Given the description of an element on the screen output the (x, y) to click on. 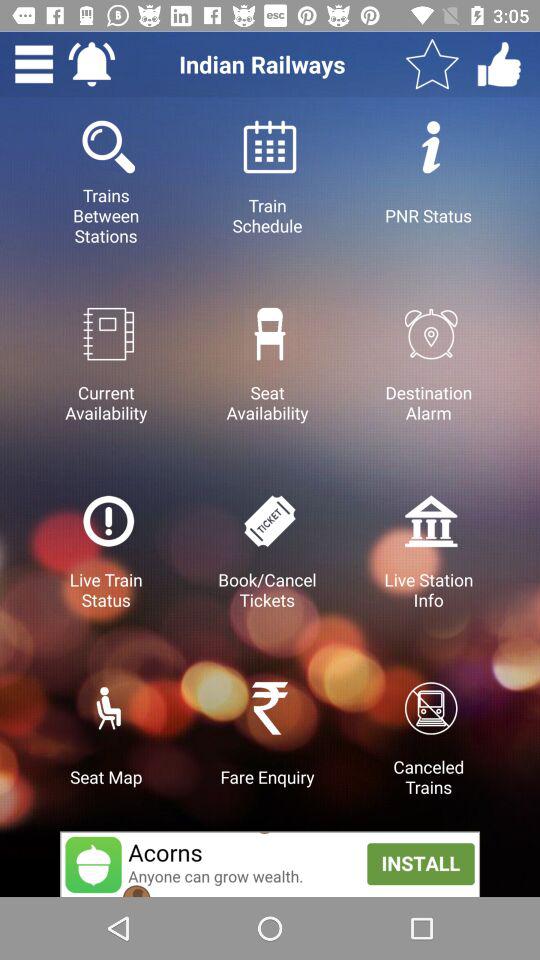
bookmark this page (432, 63)
